Given the description of an element on the screen output the (x, y) to click on. 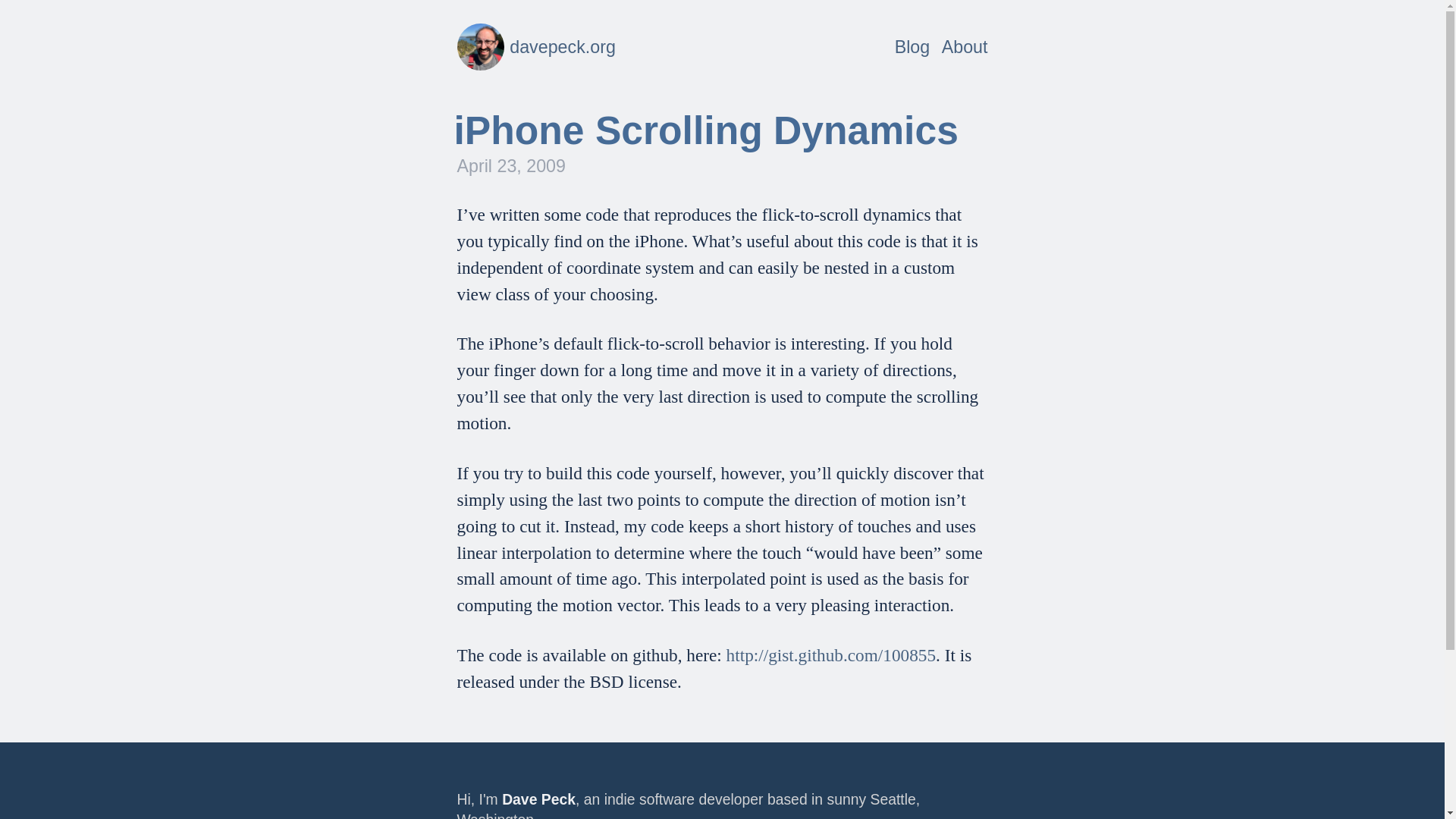
davepeck.org (535, 46)
Dave Peck (538, 799)
iPhone Scrolling Dynamics (705, 129)
April 23, 2009 (510, 166)
Blog (722, 35)
About (912, 46)
